Given the description of an element on the screen output the (x, y) to click on. 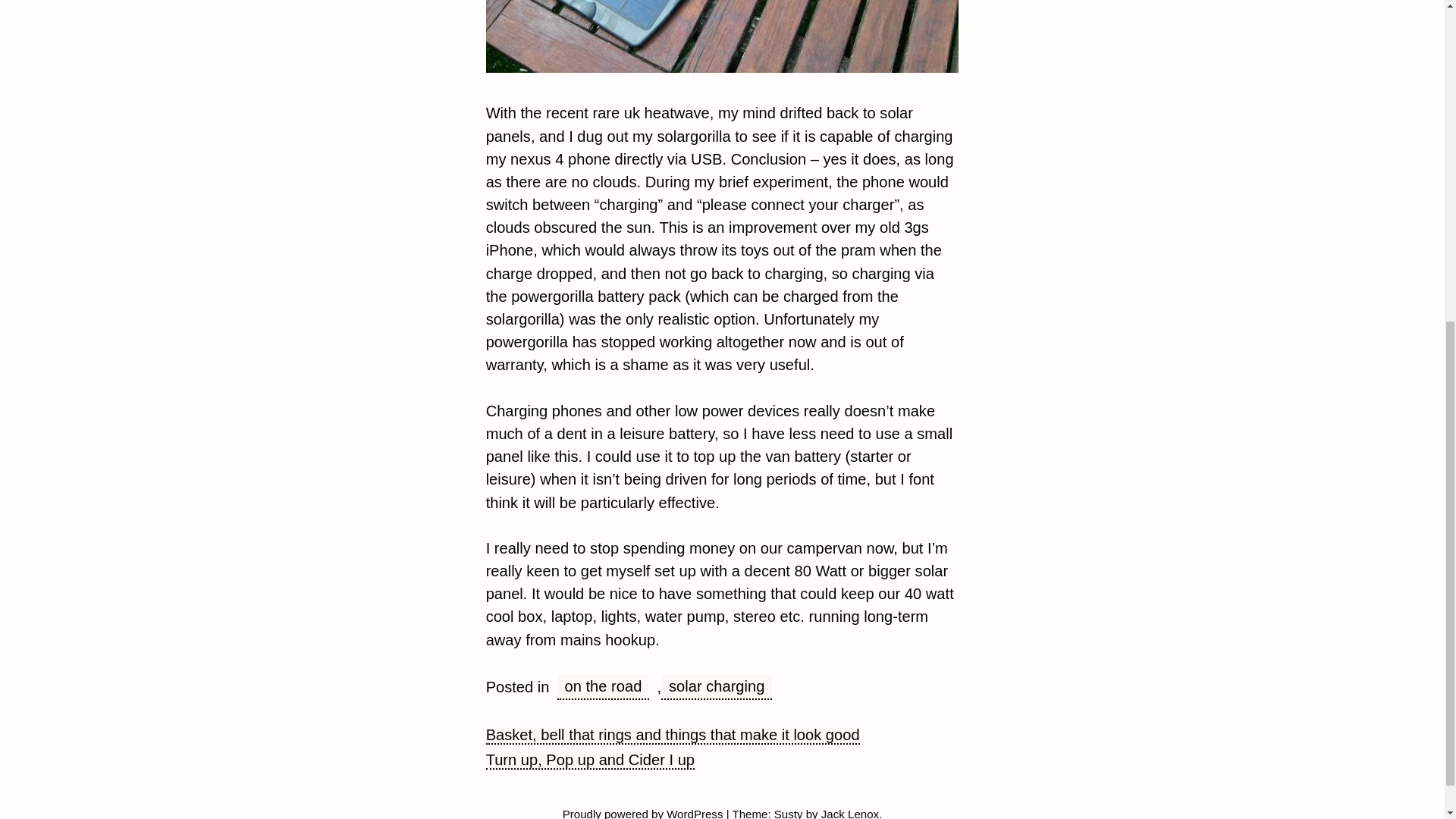
Turn up, Pop up and Cider I up (590, 760)
solar charging (716, 687)
Basket, bell that rings and things that make it look good (673, 735)
on the road (603, 687)
